Given the description of an element on the screen output the (x, y) to click on. 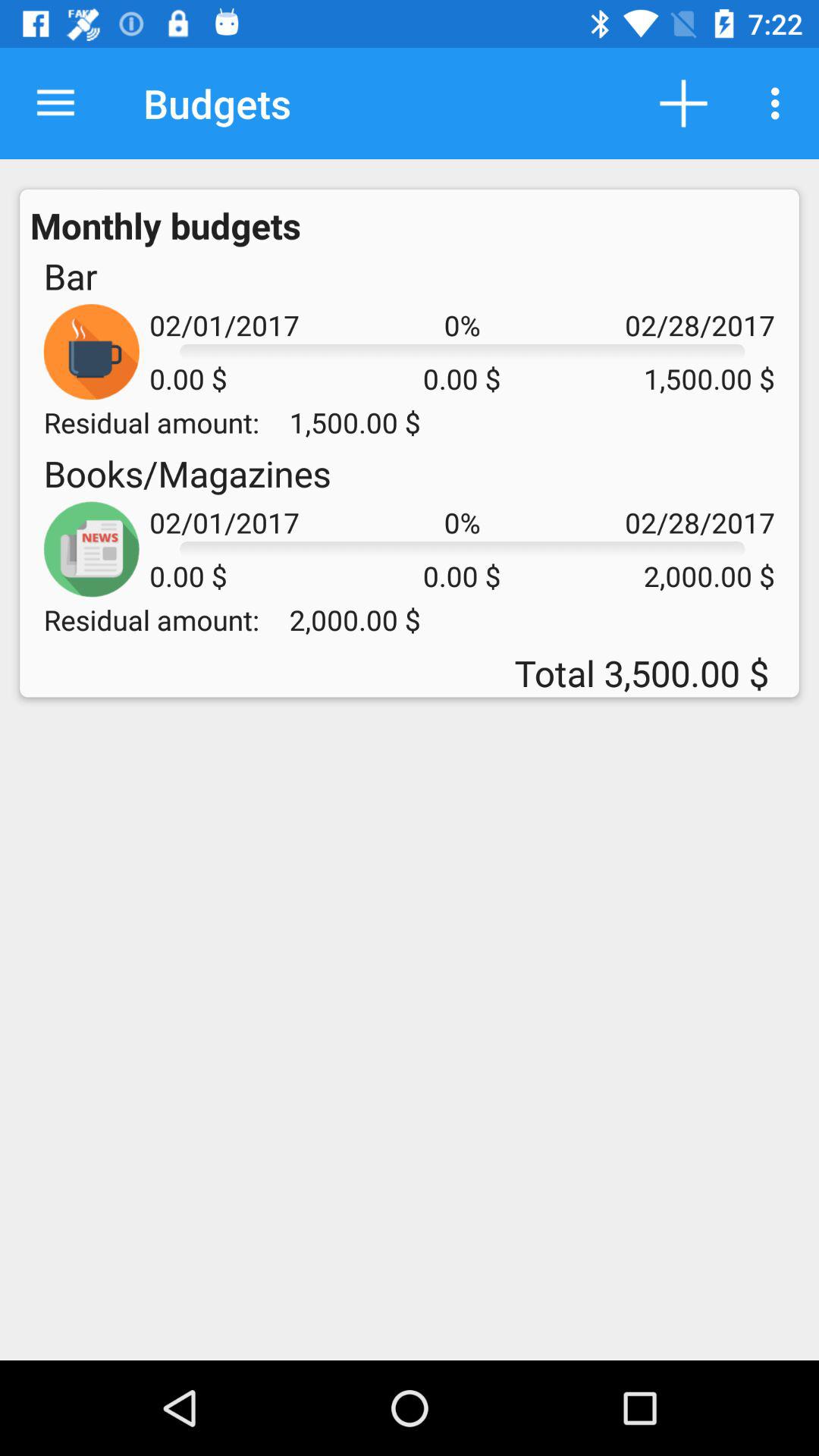
tap the bar icon (70, 275)
